Given the description of an element on the screen output the (x, y) to click on. 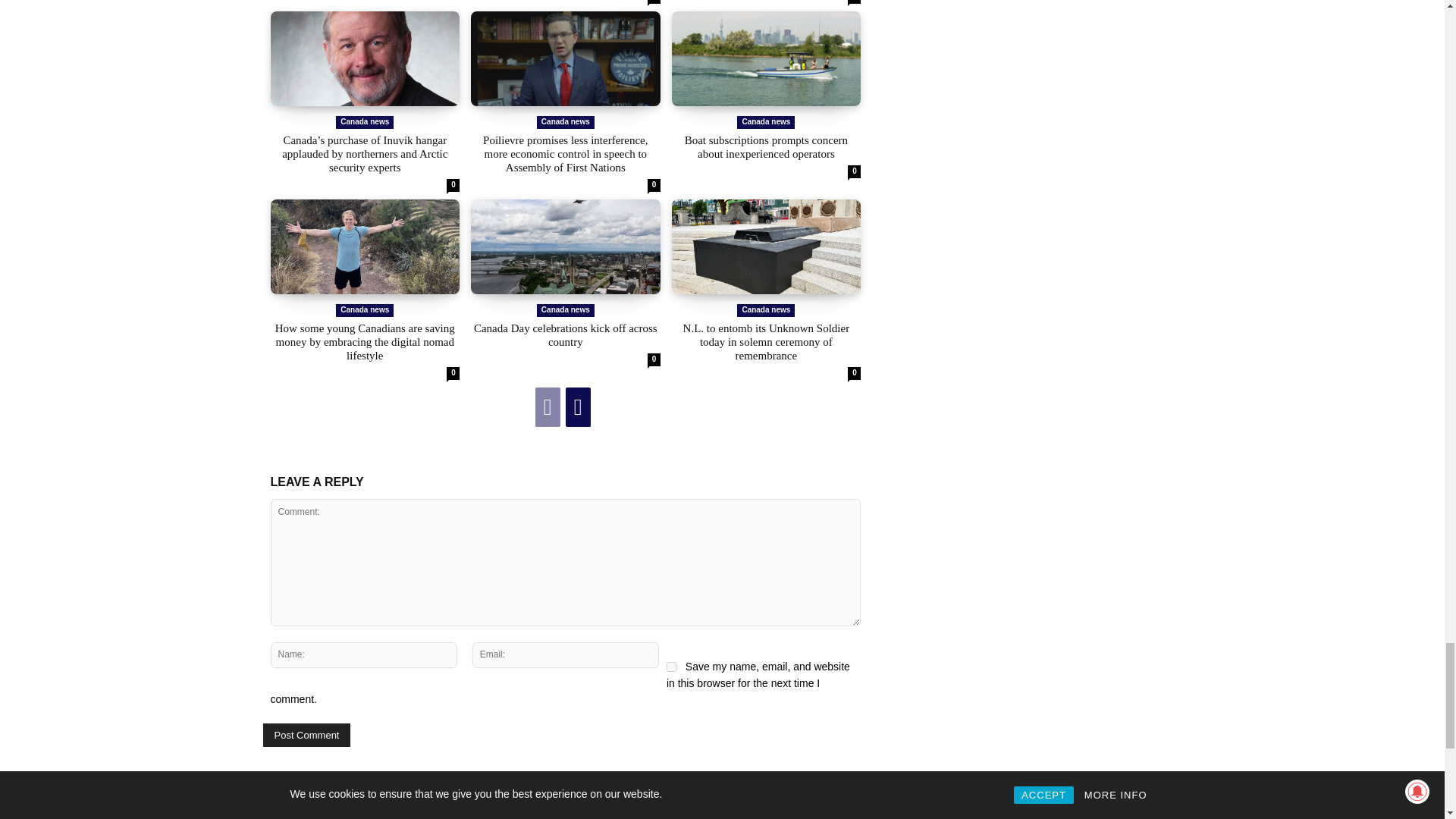
Post Comment (306, 734)
yes (671, 666)
